Given the description of an element on the screen output the (x, y) to click on. 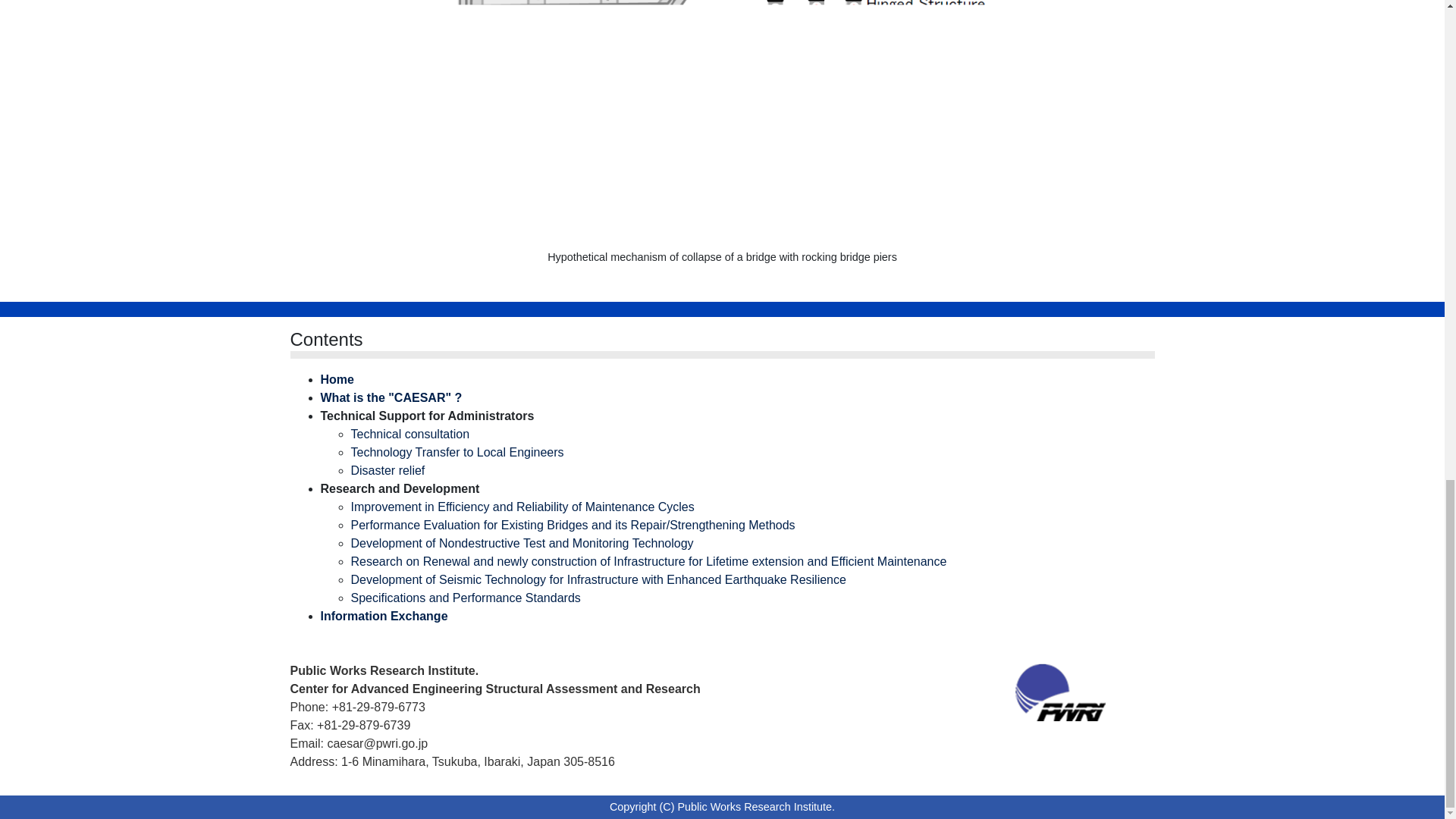
Development of Nondestructive Test and Monitoring Technology (521, 543)
What is the "CAESAR" ? (390, 397)
Technology Transfer to Local Engineers (456, 451)
Information Exchange (383, 615)
Specifications and Performance Standards (464, 597)
Disaster relief (387, 470)
Technical consultation (409, 433)
Home (336, 379)
